Given the description of an element on the screen output the (x, y) to click on. 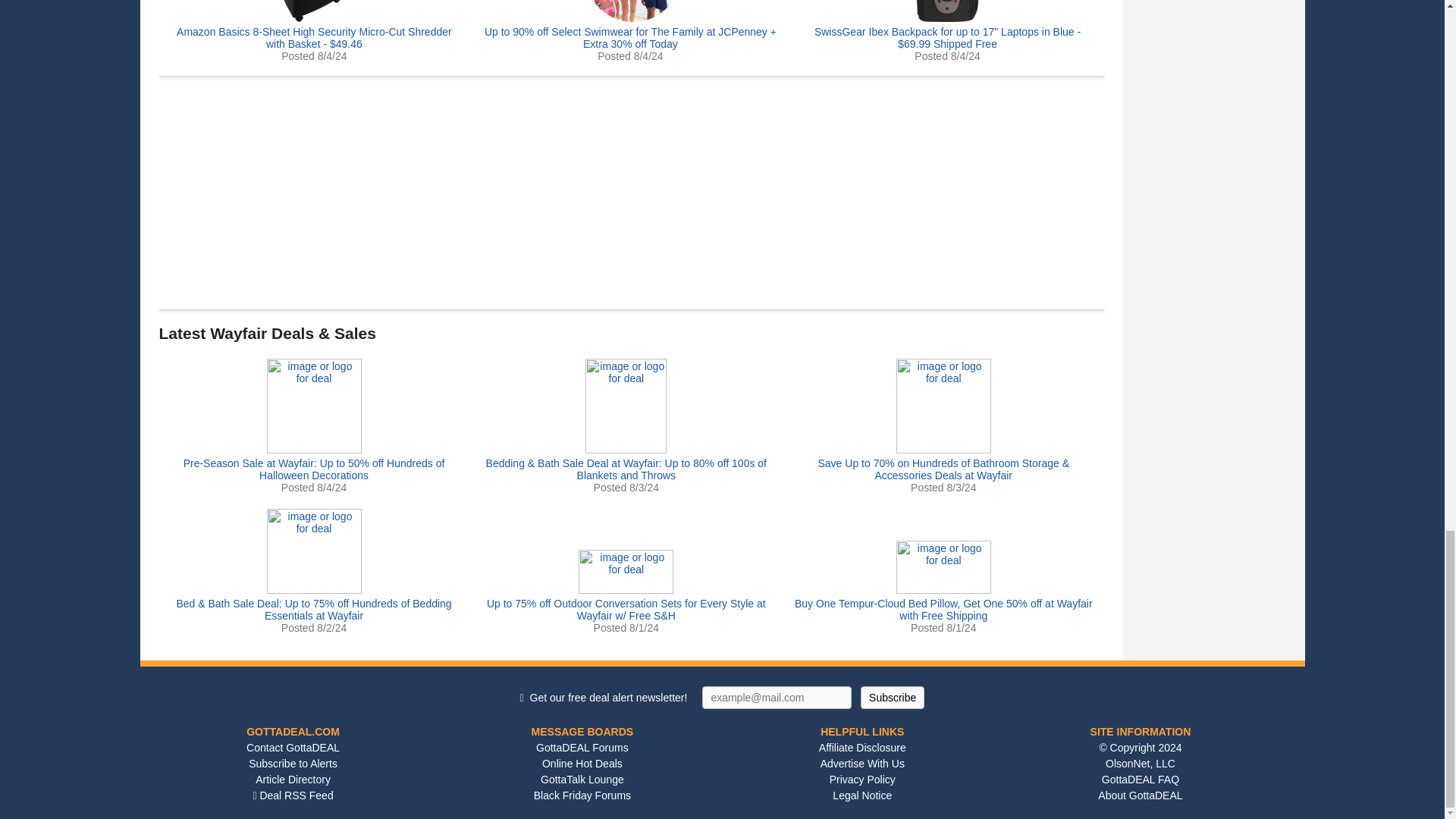
Subscribe (892, 697)
